Given the description of an element on the screen output the (x, y) to click on. 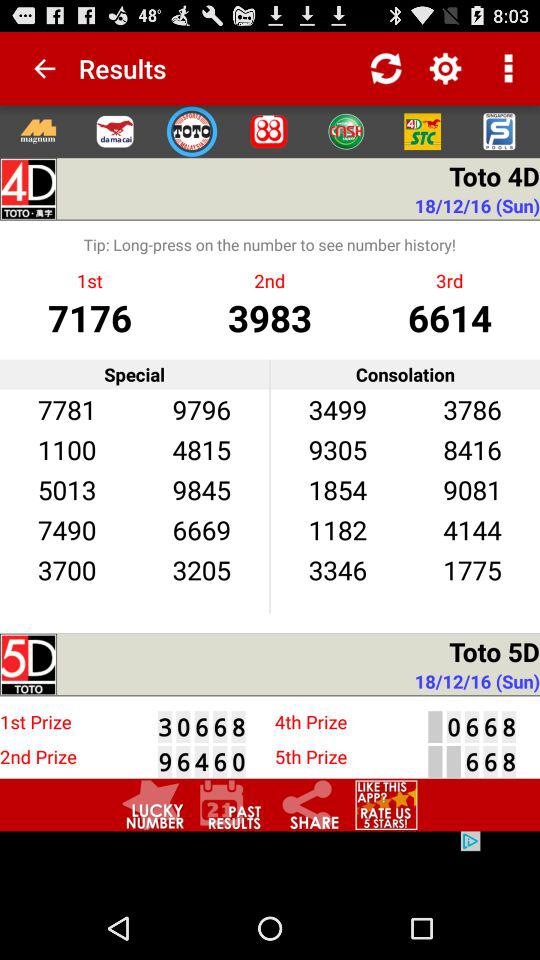
turn off 4144 item (472, 529)
